Given the description of an element on the screen output the (x, y) to click on. 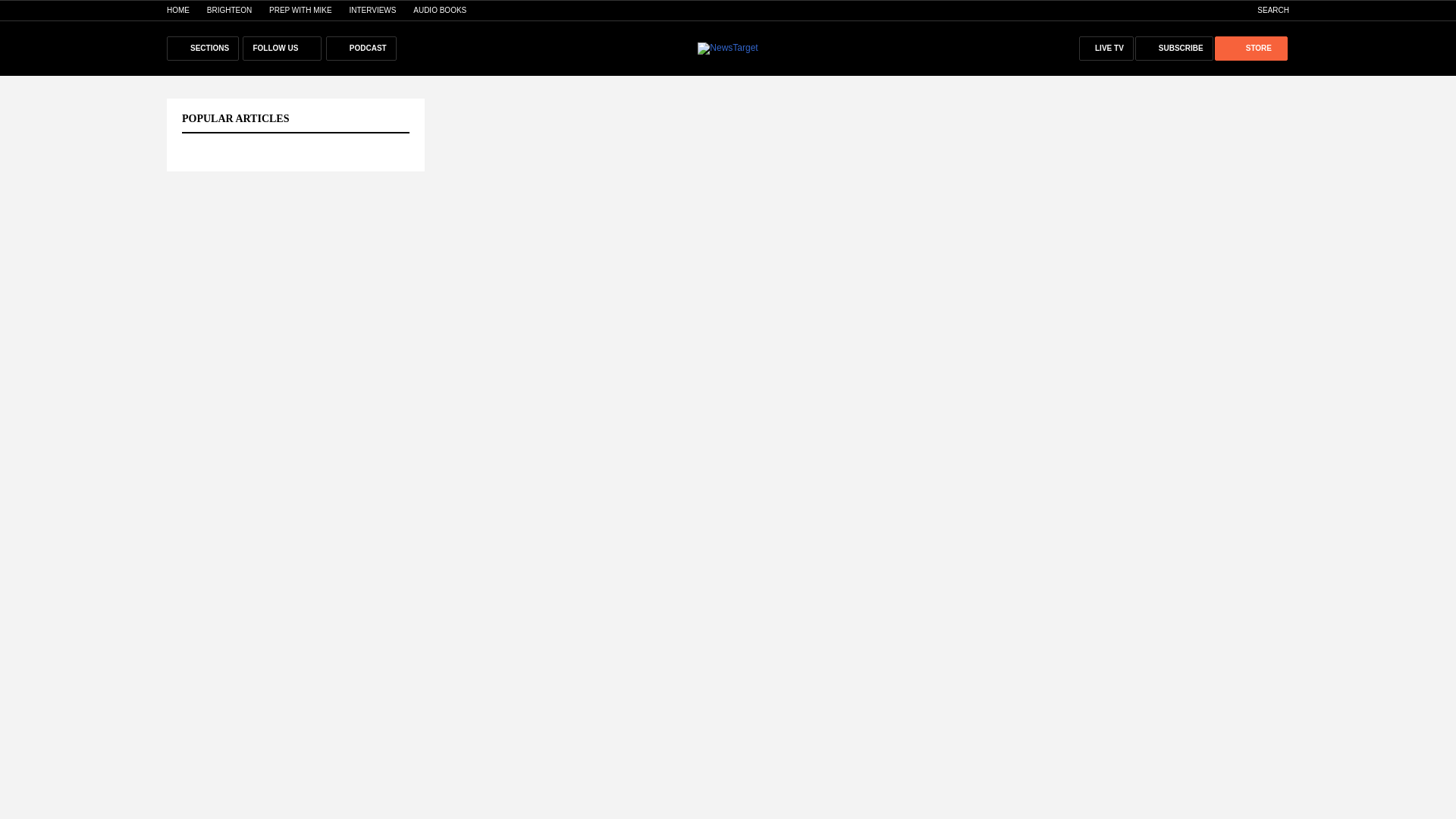
SUBSCRIBE (1173, 48)
PODCAST (361, 48)
SEARCH (1264, 9)
HOME (178, 9)
INTERVIEWS (372, 9)
STORE (1250, 48)
LIVE TV (1106, 48)
AUDIO BOOKS (439, 9)
BRIGHTEON (228, 9)
PREP WITH MIKE (300, 9)
